Given the description of an element on the screen output the (x, y) to click on. 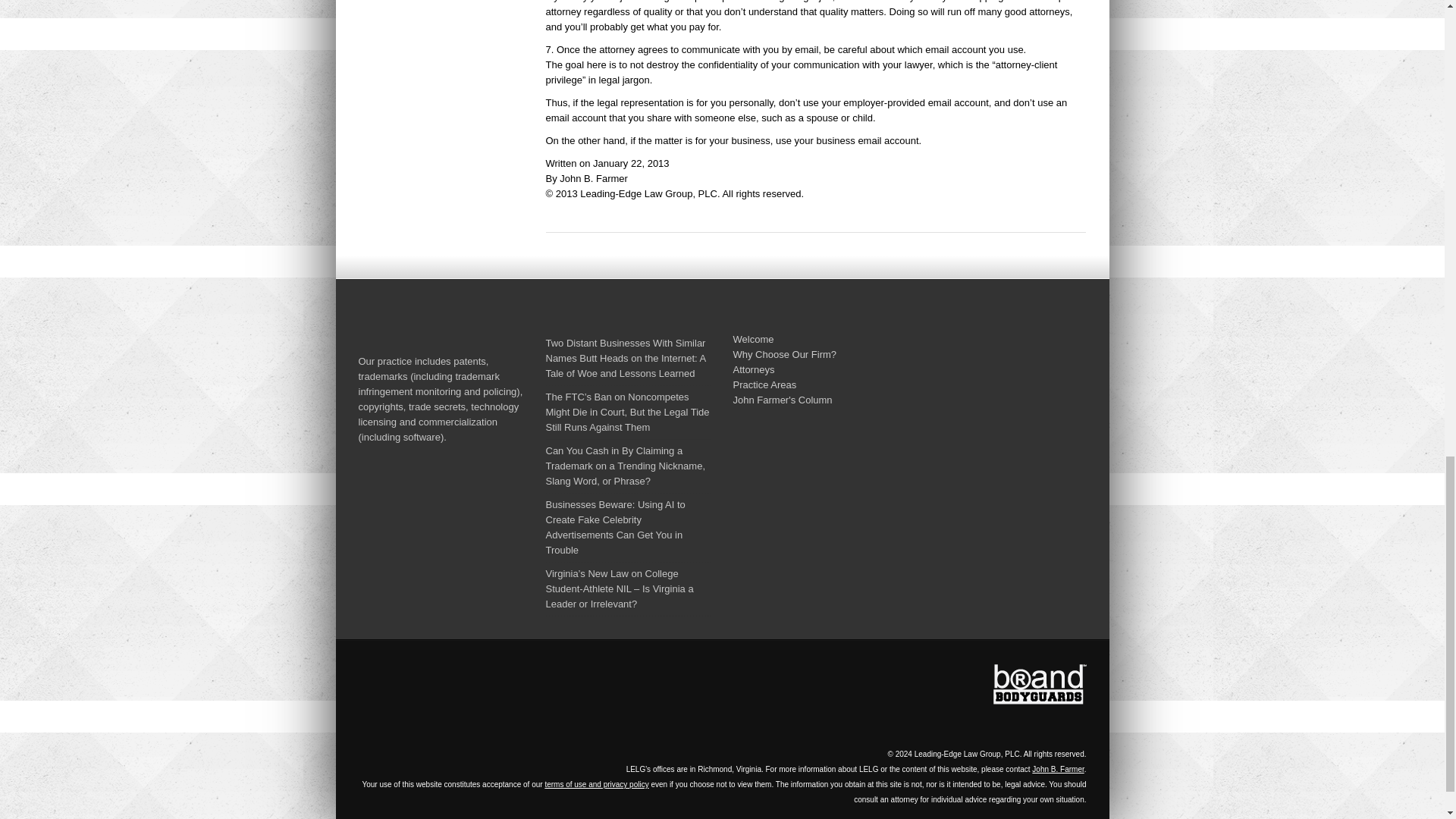
terms of use and privacy policy (595, 784)
John Farmer's Column (781, 399)
Welcome (752, 338)
Attorneys (753, 369)
John B. Farmer (1057, 768)
Homepage (481, 697)
Practice Areas (764, 384)
Why Choose Our Firm? (783, 354)
